Given the description of an element on the screen output the (x, y) to click on. 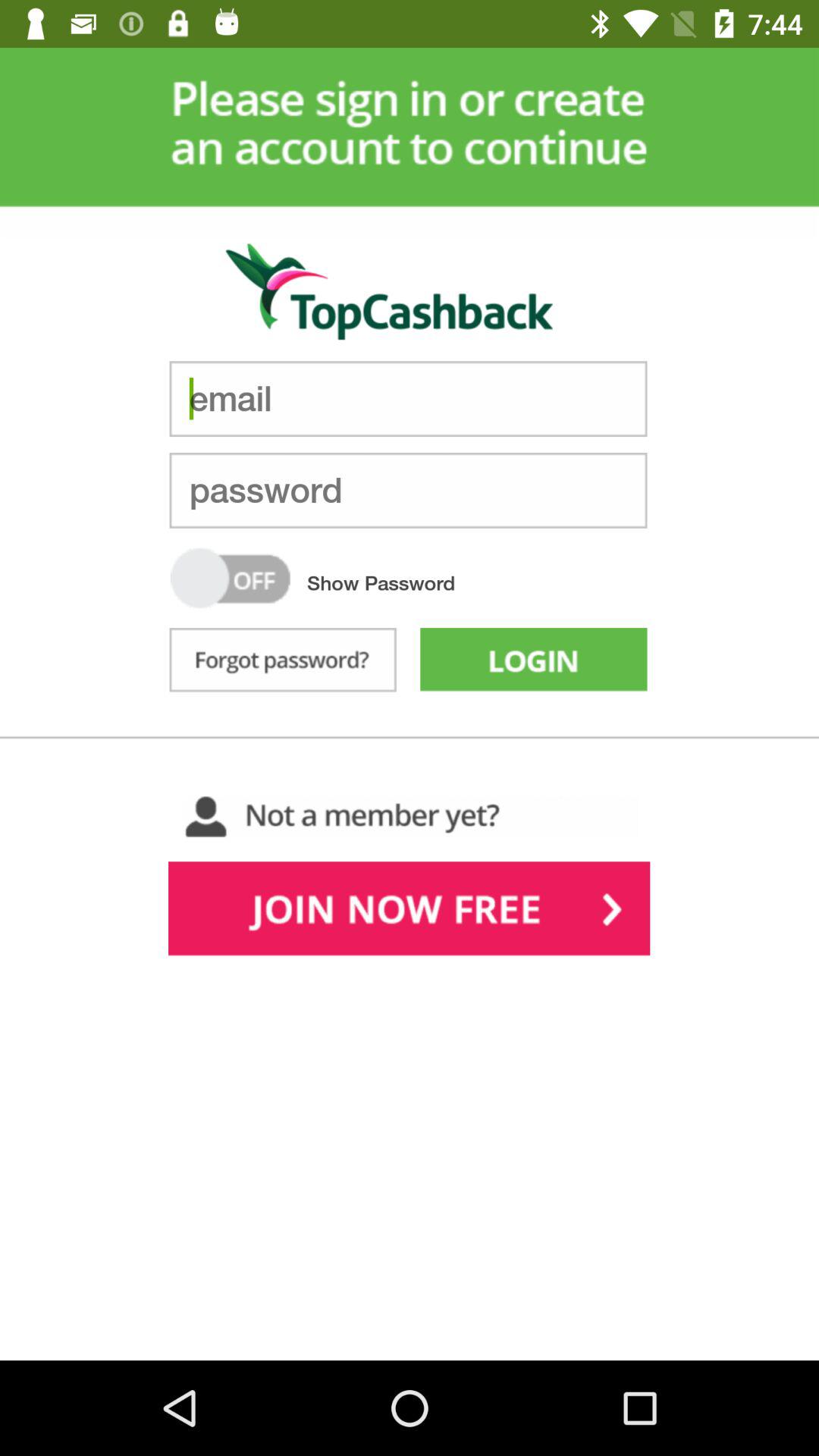
space to type password (408, 490)
